Given the description of an element on the screen output the (x, y) to click on. 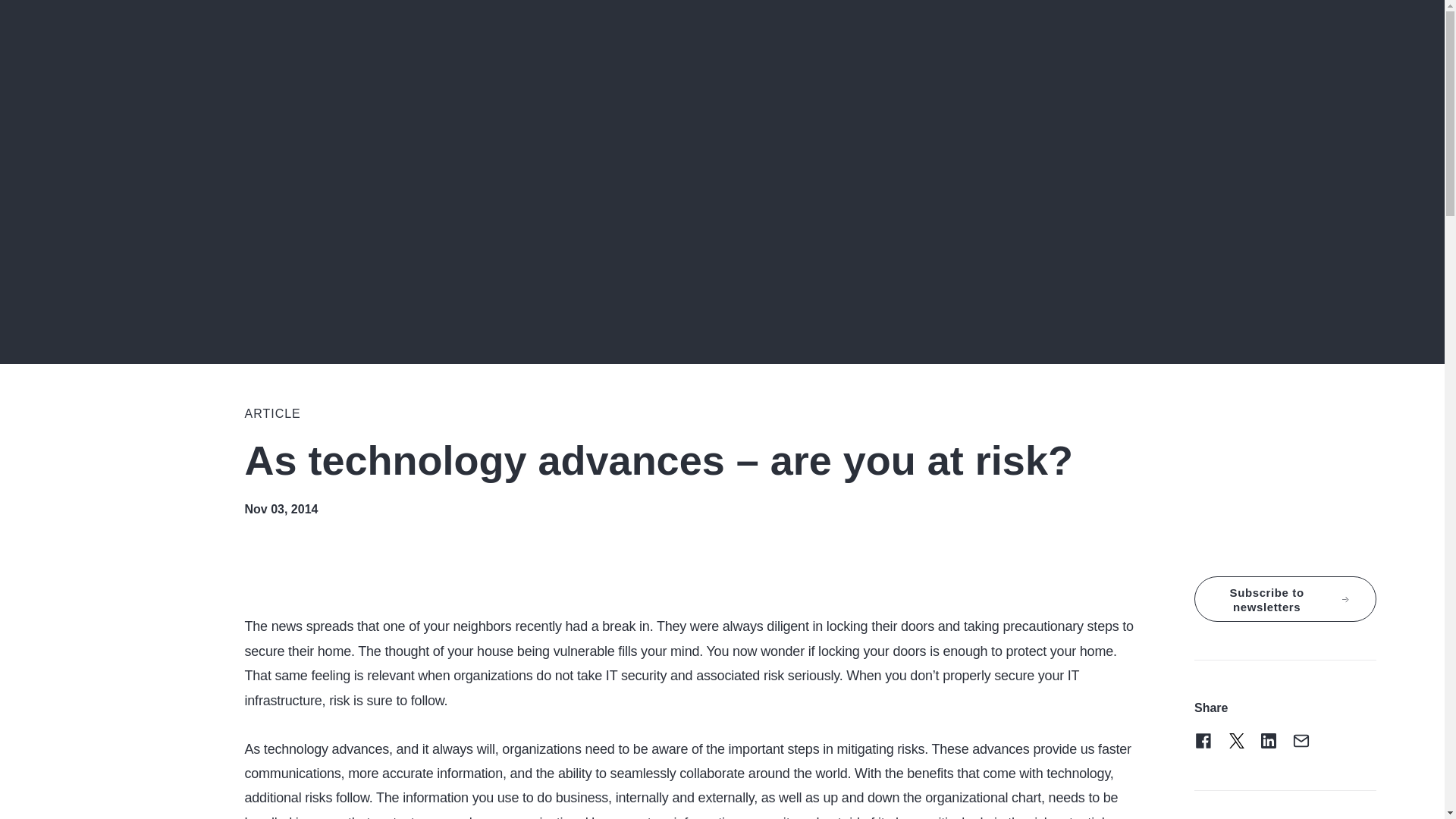
share on LinkedIn (1268, 740)
share by email (1300, 740)
Subscribe to newsletters (1284, 598)
share on X (1236, 740)
share on Facebook (1203, 740)
